Given the description of an element on the screen output the (x, y) to click on. 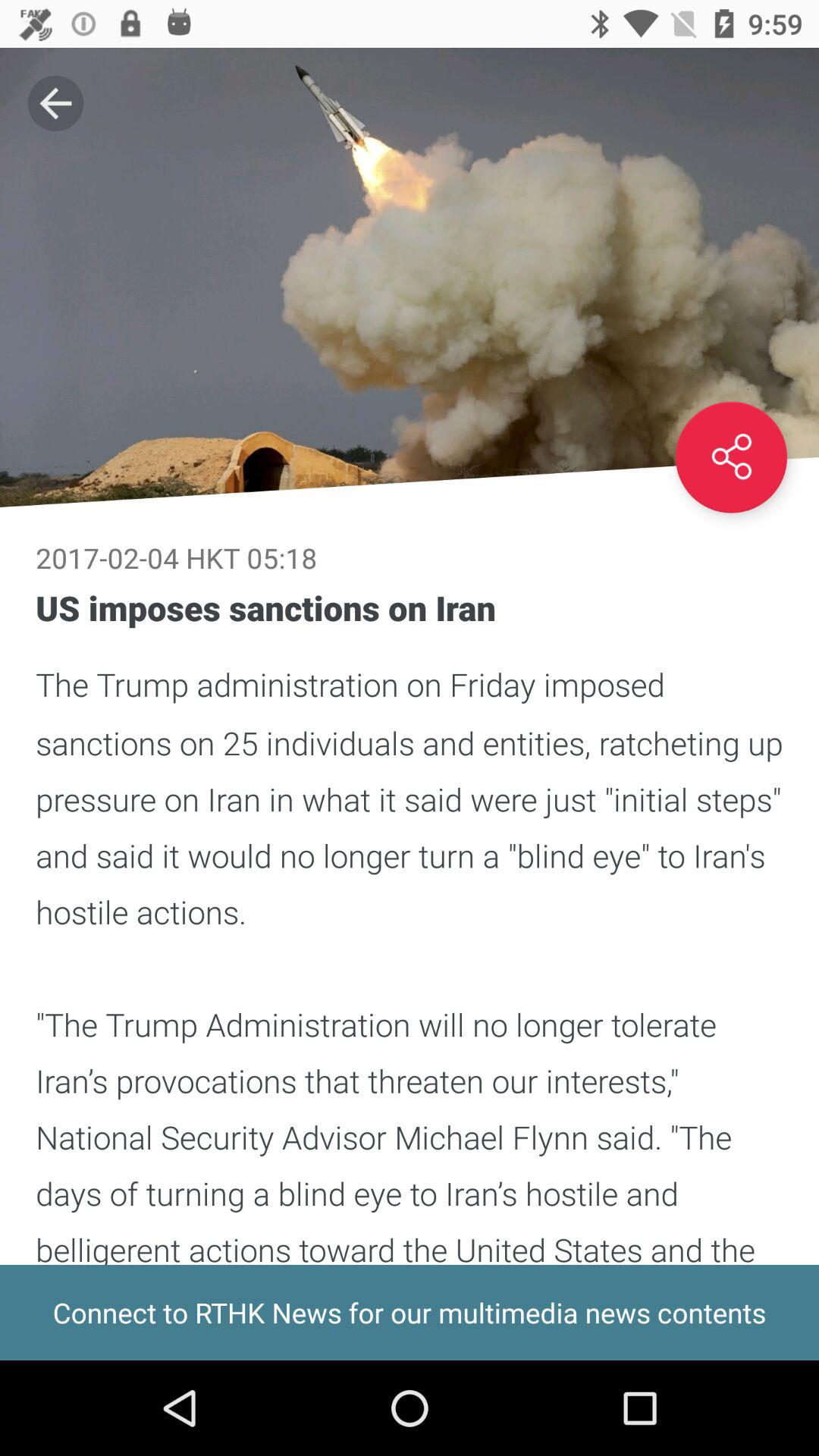
tap the icon below us imposes sanctions icon (409, 1312)
